Given the description of an element on the screen output the (x, y) to click on. 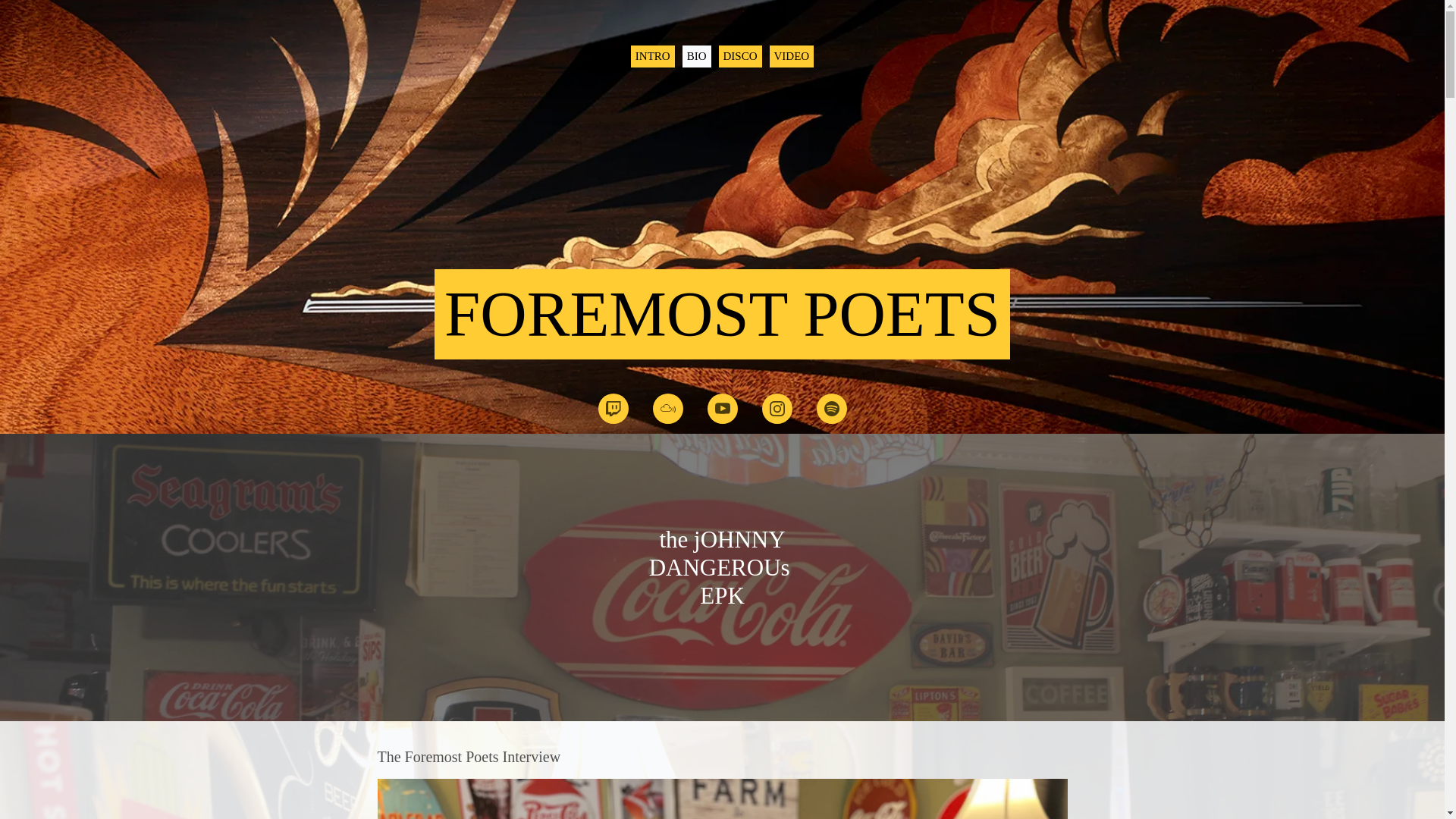
VIDEO (791, 56)
BIO (696, 56)
DISCO (740, 56)
INTRO (652, 56)
FOREMOST POETS (721, 328)
